Given the description of an element on the screen output the (x, y) to click on. 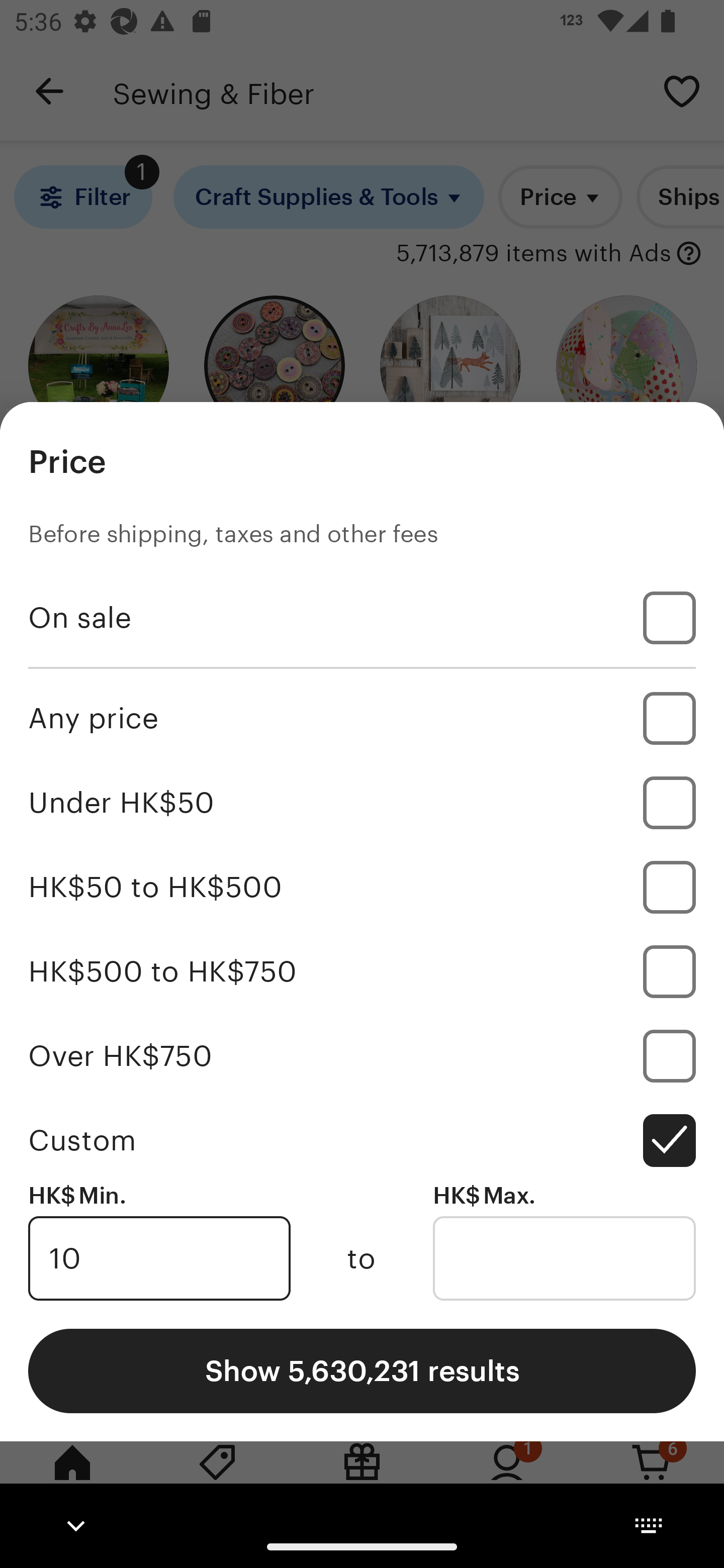
On sale (362, 617)
Any price (362, 717)
Under HK$50 (362, 802)
HK$50 to HK$500 (362, 887)
HK$500 to HK$750 (362, 970)
Over HK$750 (362, 1054)
Custom (362, 1139)
10 (159, 1257)
Show 5,630,231 results (361, 1370)
